Given the description of an element on the screen output the (x, y) to click on. 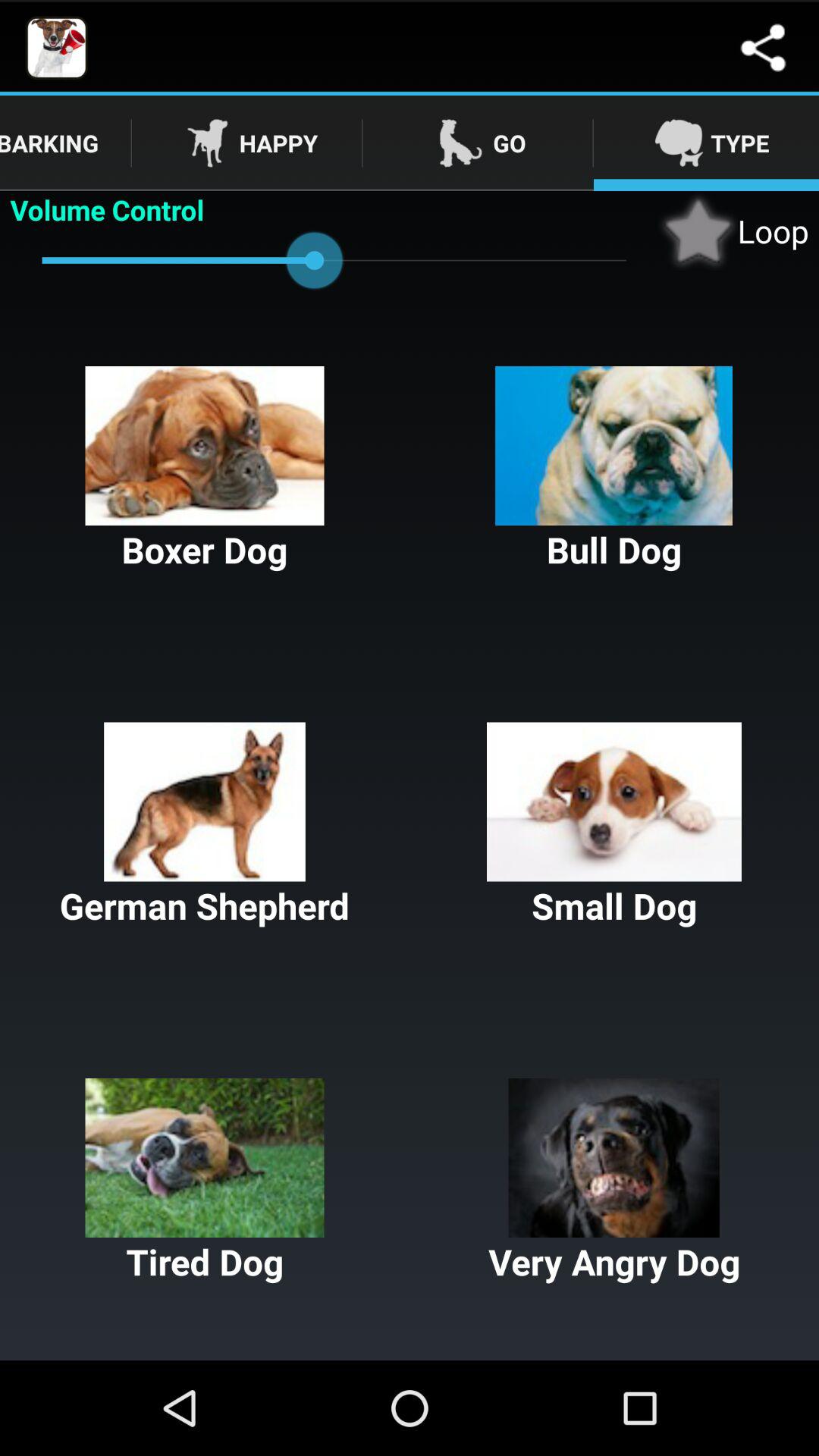
launch the button above the bull dog button (733, 230)
